Given the description of an element on the screen output the (x, y) to click on. 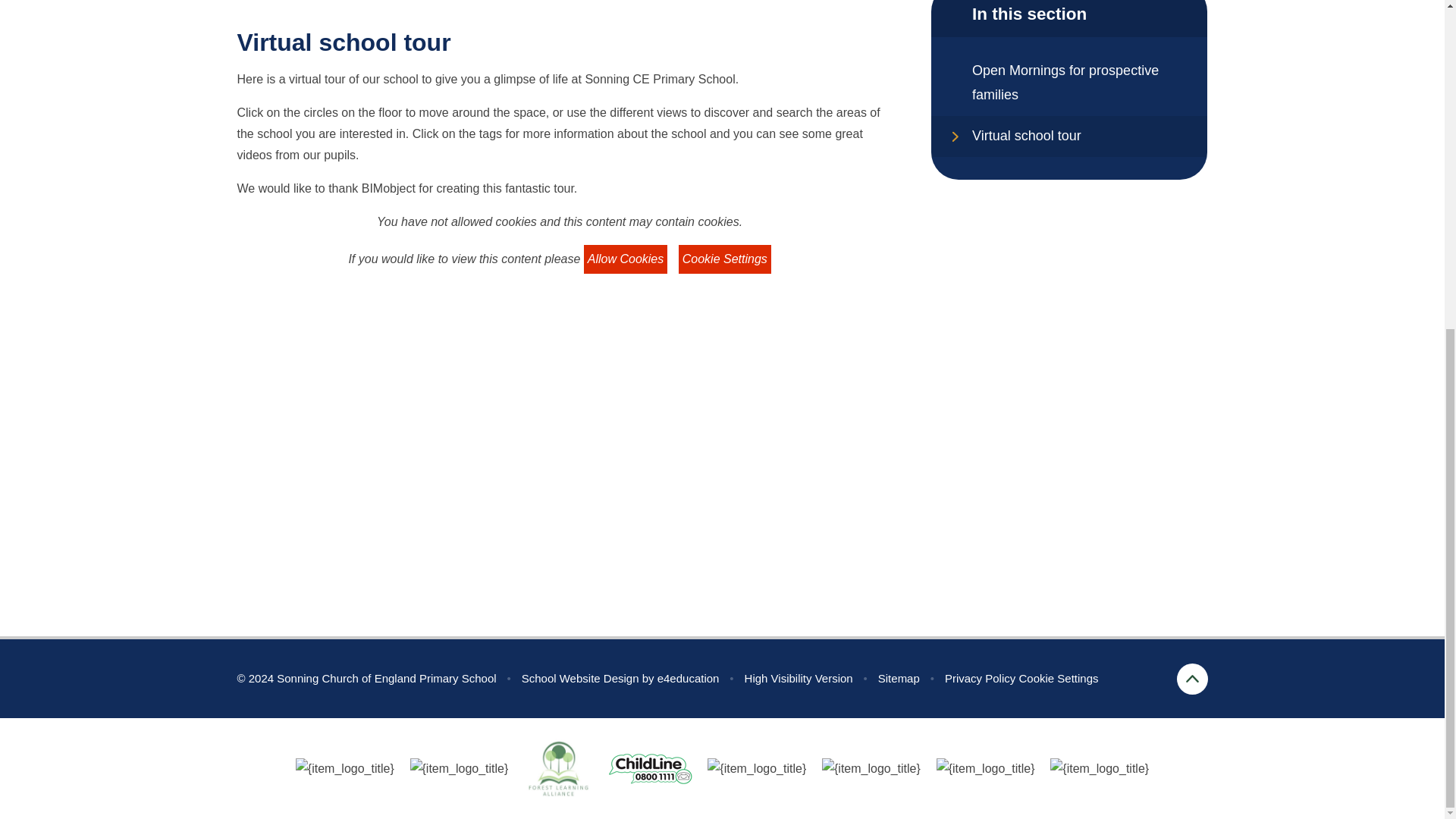
Cookie Settings (1057, 677)
